Given the description of an element on the screen output the (x, y) to click on. 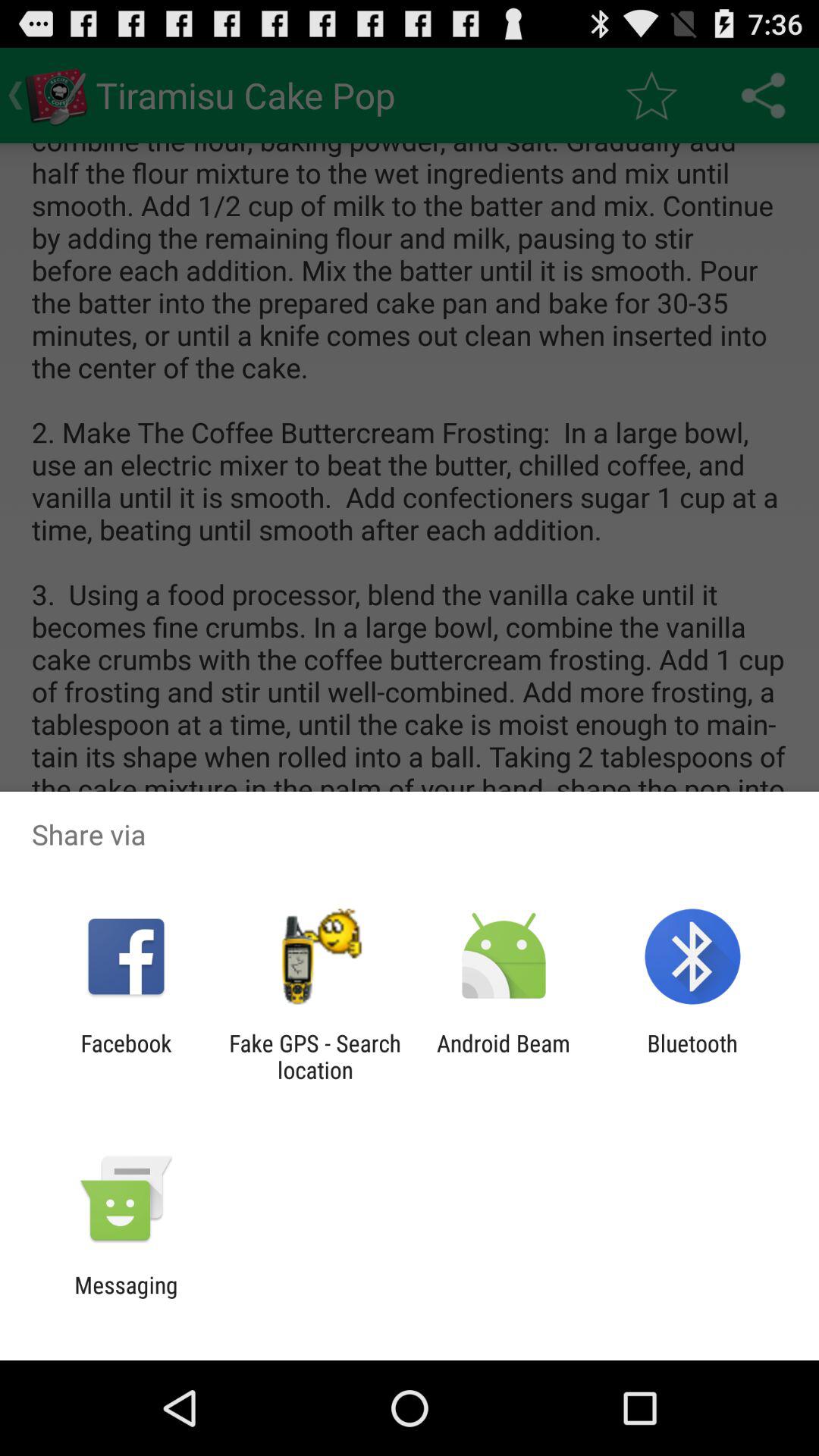
tap app to the left of the android beam item (314, 1056)
